Given the description of an element on the screen output the (x, y) to click on. 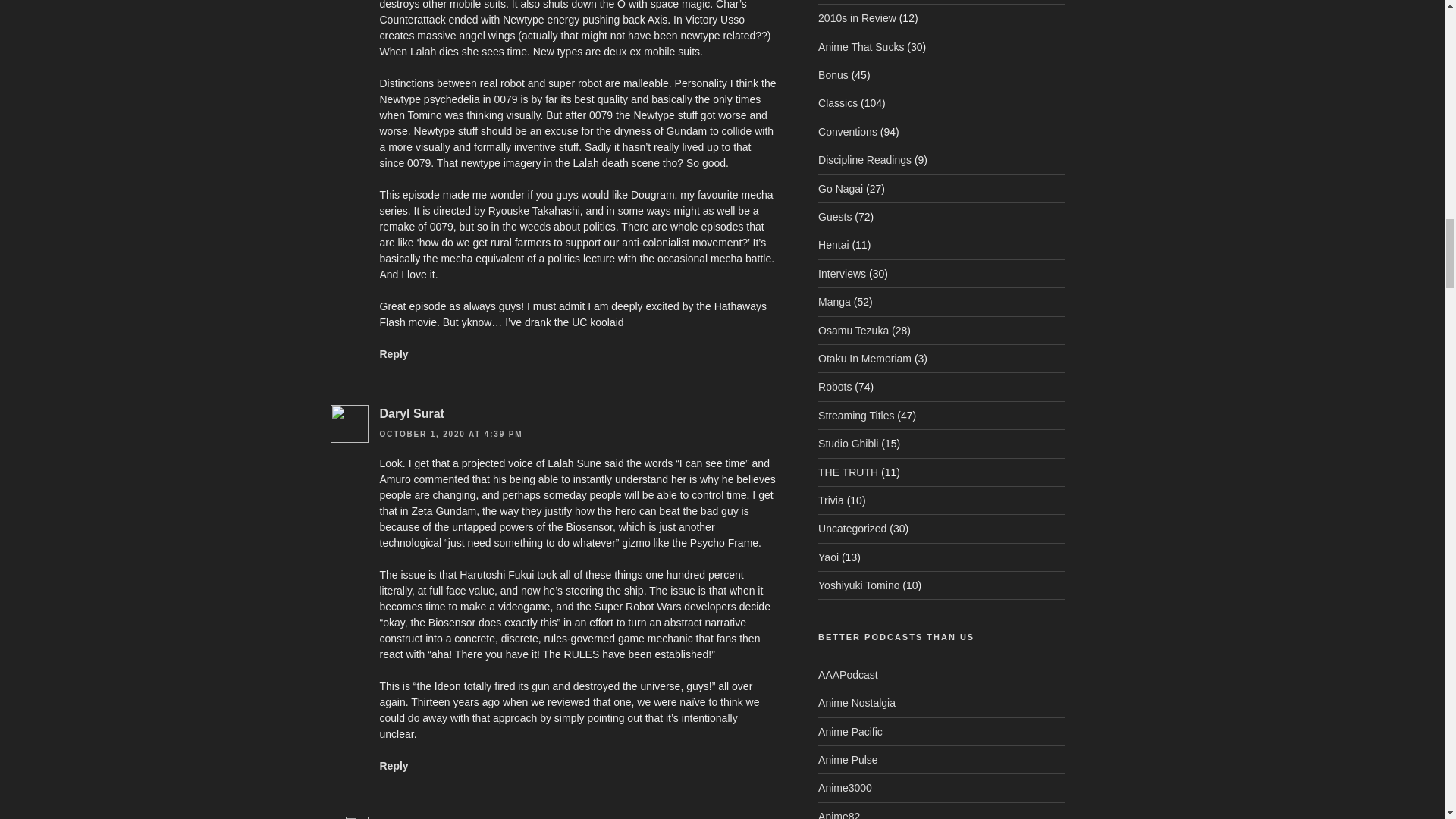
OCTOBER 1, 2020 AT 4:39 PM (450, 433)
AAA is what you say (847, 674)
Daryl Surat (411, 413)
Reply (392, 766)
Reply (392, 354)
